Given the description of an element on the screen output the (x, y) to click on. 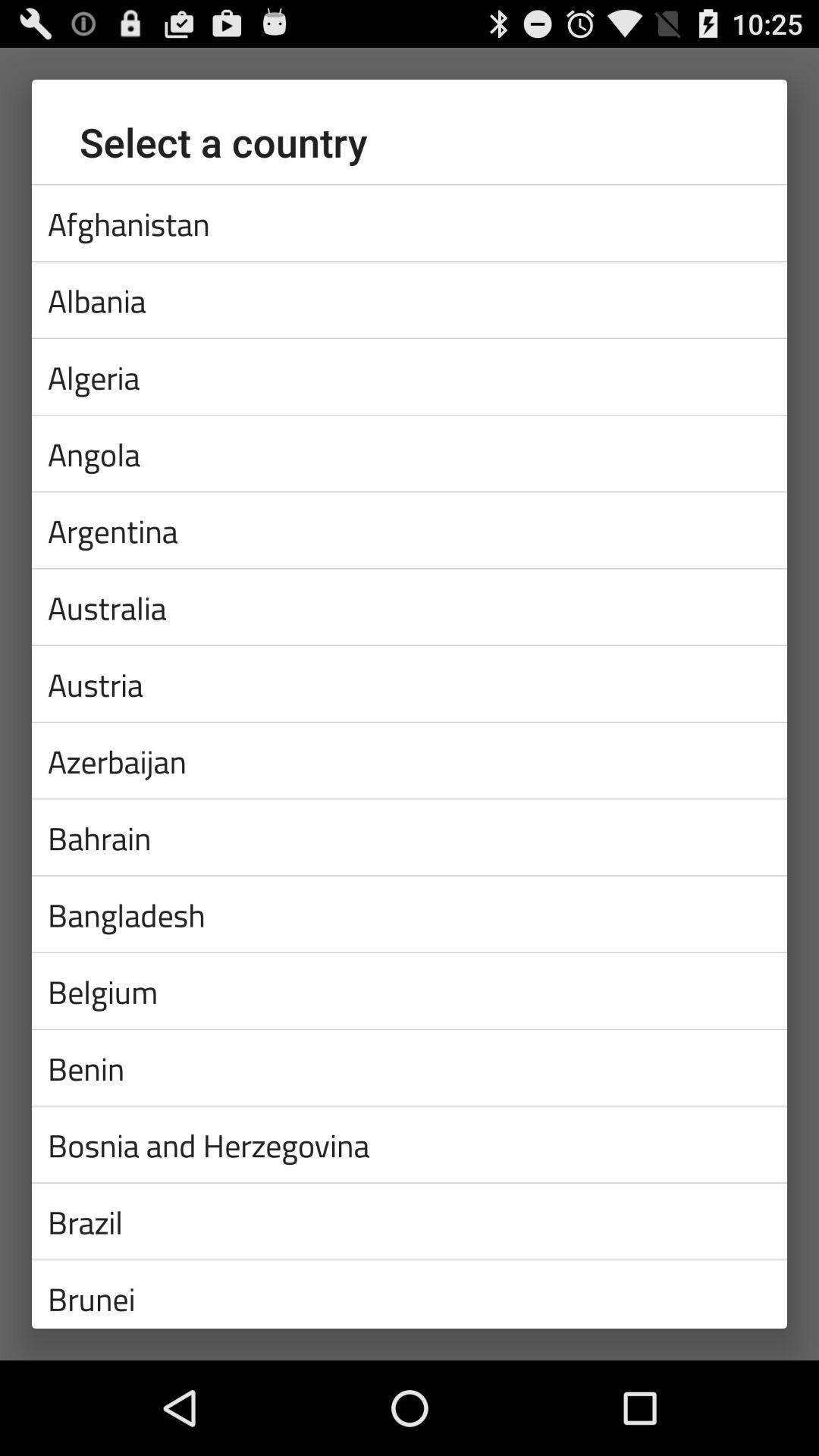
flip to the austria app (409, 683)
